Given the description of an element on the screen output the (x, y) to click on. 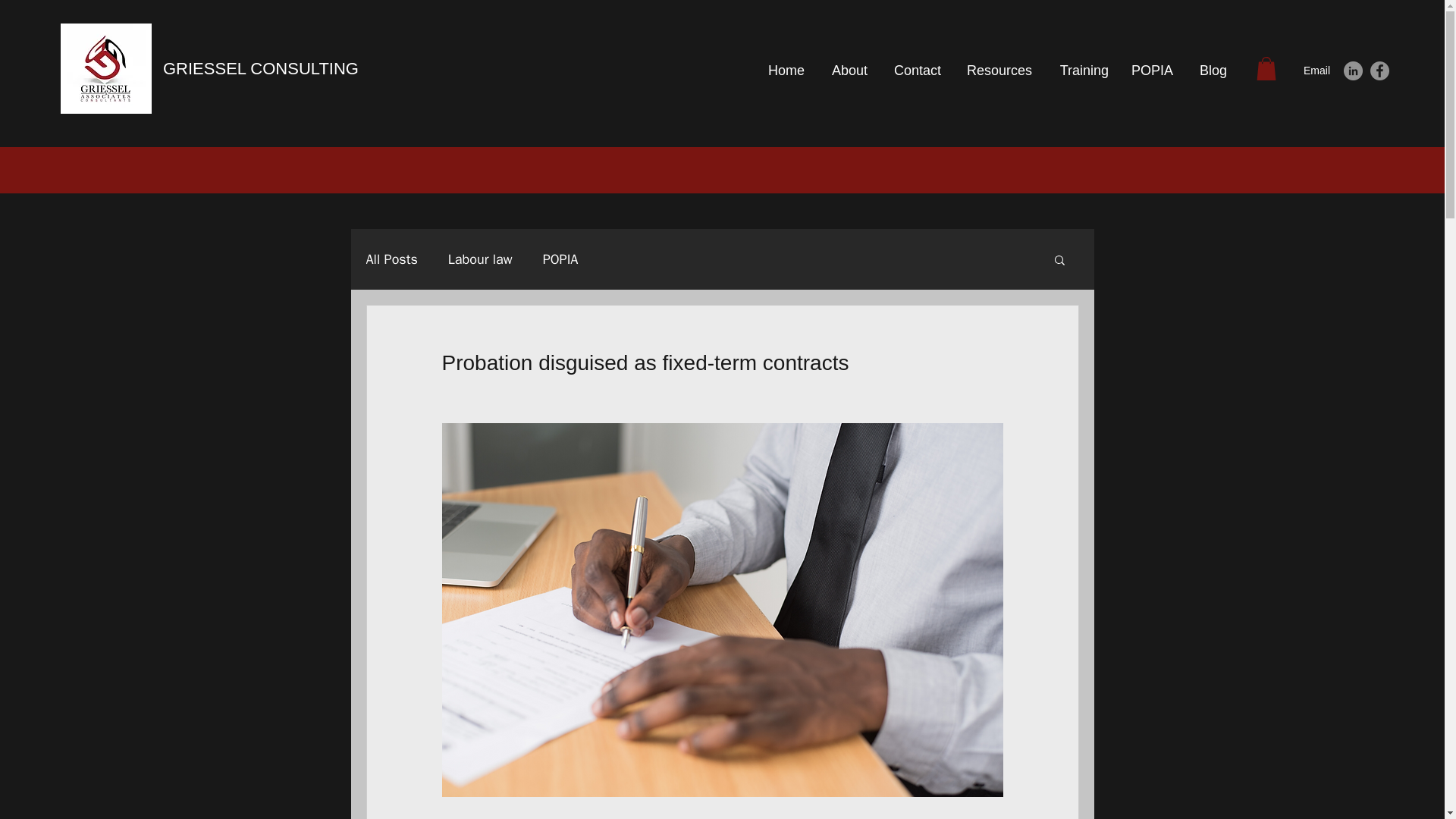
GRIESSEL CONSULTING (260, 67)
Training (1081, 70)
Contact (915, 70)
POPIA (560, 259)
Email (1316, 70)
Blog (1212, 70)
POPIA (1152, 70)
Home (783, 70)
About (847, 70)
All Posts (390, 259)
Resources (997, 70)
Labour law (480, 259)
